Given the description of an element on the screen output the (x, y) to click on. 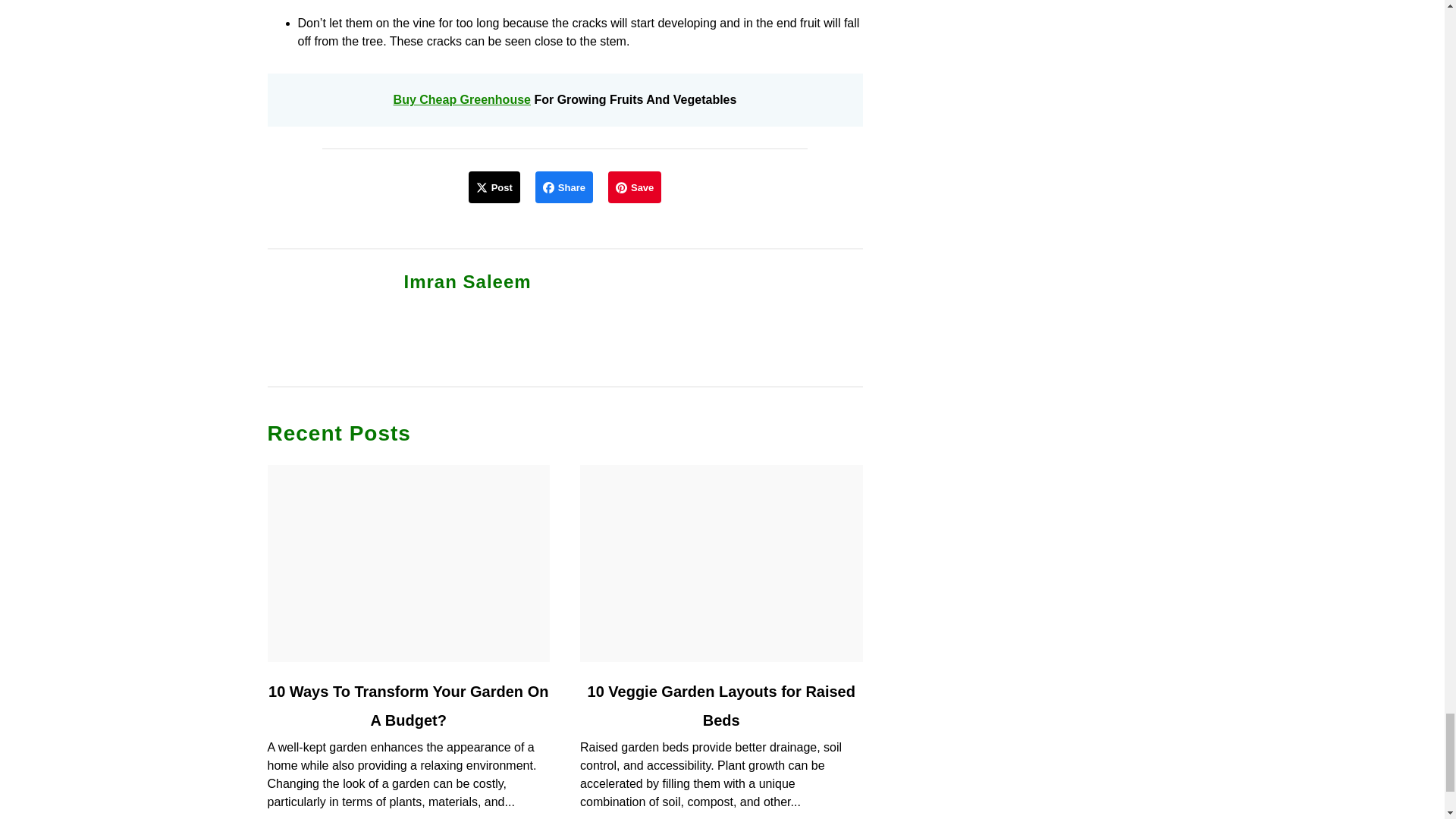
Post (493, 187)
Buy Cheap Greenhouse (462, 99)
Share (563, 187)
